Given the description of an element on the screen output the (x, y) to click on. 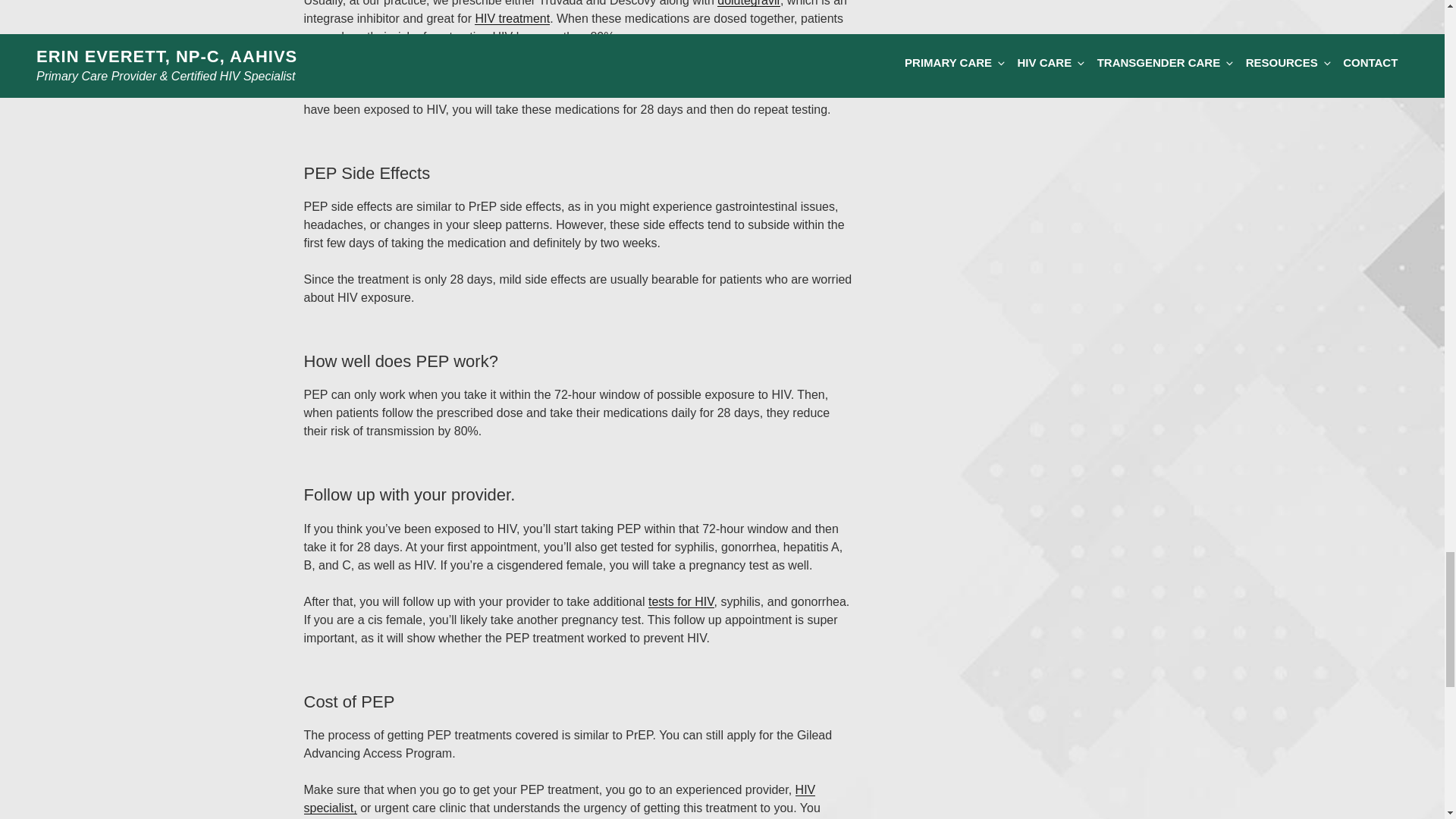
dolutegravir (748, 3)
raltegravir (429, 72)
HIV treatment (512, 18)
tests for HIV (680, 601)
HIV specialist, (558, 798)
